Given the description of an element on the screen output the (x, y) to click on. 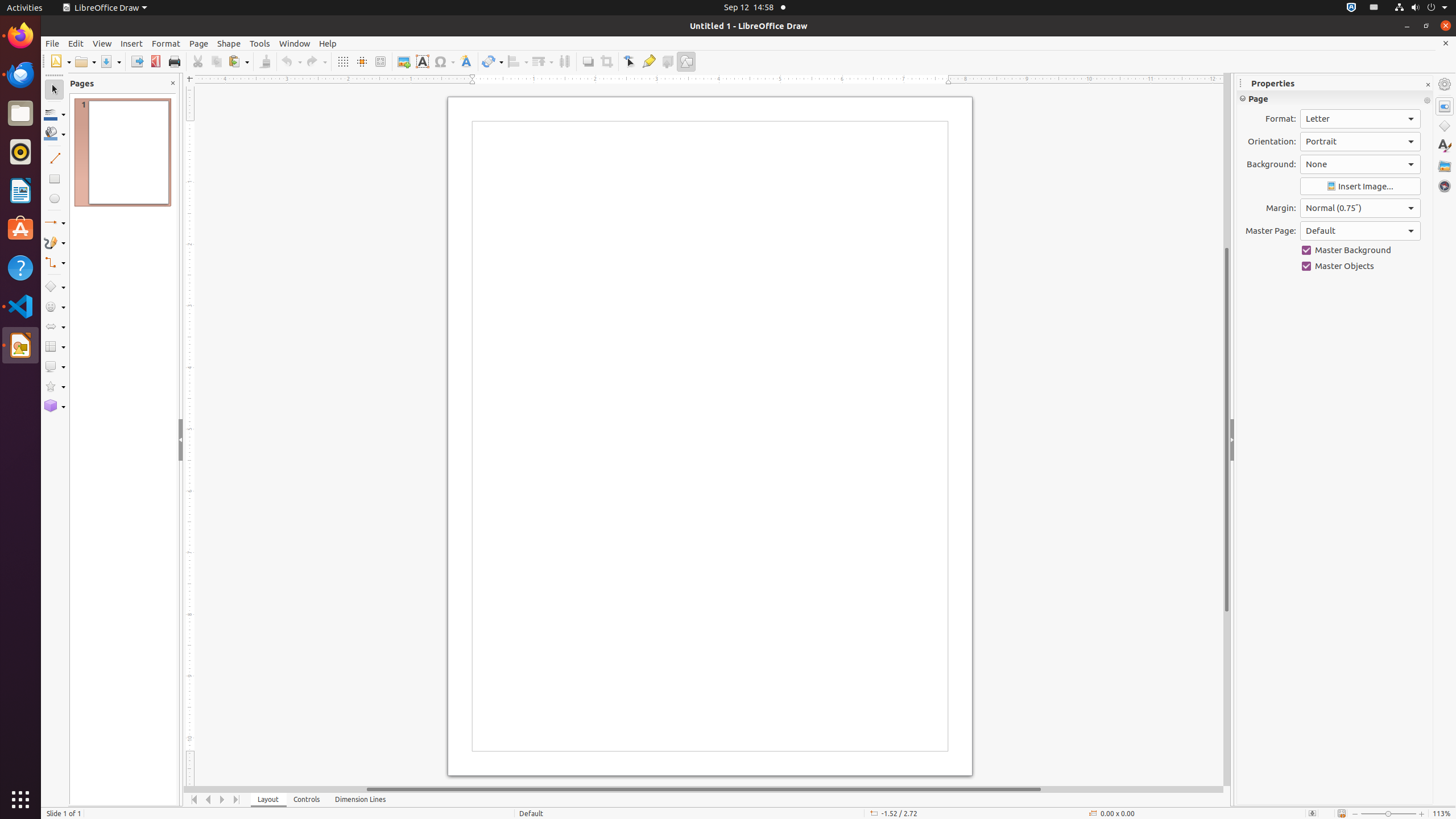
Shape Element type: menu (228, 43)
Flowchart Shapes Element type: push-button (54, 346)
Controls Element type: page-tab (307, 799)
Properties Element type: radio-button (1444, 106)
Orientation: Element type: combo-box (1360, 141)
